Given the description of an element on the screen output the (x, y) to click on. 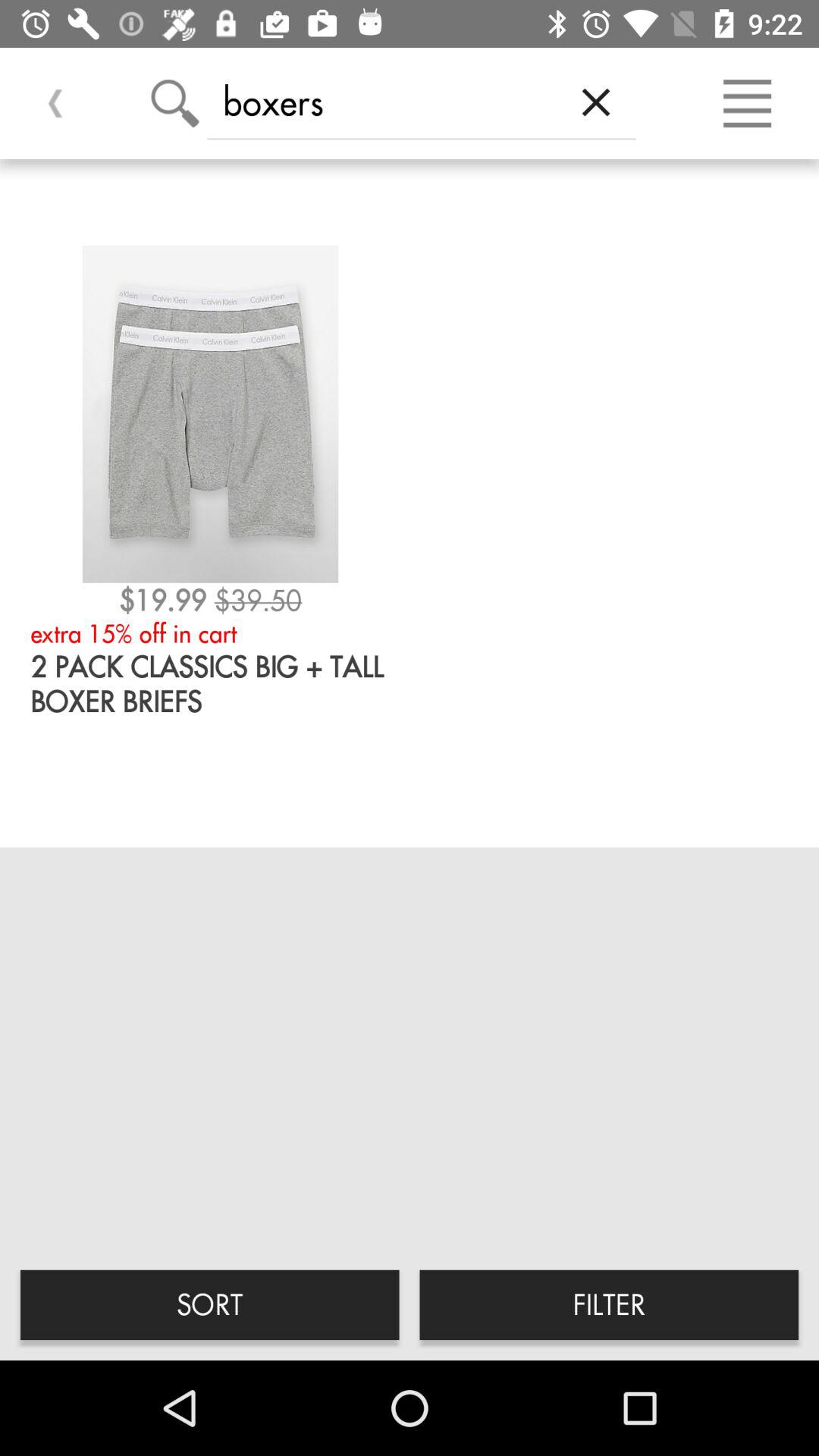
scroll to boxers item (381, 102)
